Given the description of an element on the screen output the (x, y) to click on. 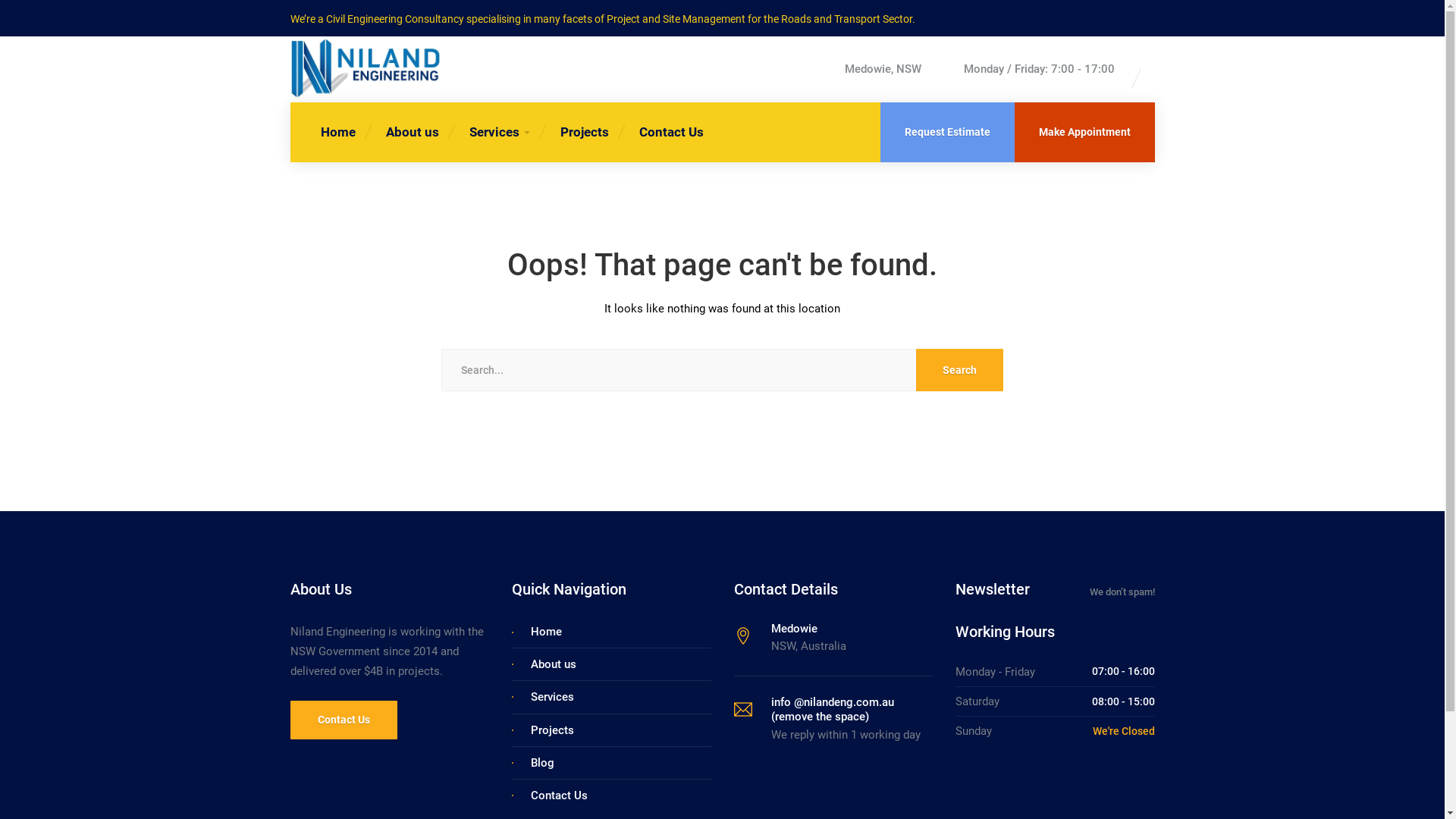
Make Appointment Element type: text (1084, 131)
Home Element type: text (545, 631)
Blog Element type: text (542, 762)
Contact Us Element type: text (670, 131)
Niland Engineering Element type: hover (365, 68)
Contact Us Element type: text (558, 795)
Projects Element type: text (583, 131)
Contact Us Element type: text (342, 720)
Home Element type: text (337, 131)
Search Element type: text (959, 369)
About us Element type: text (411, 131)
About us Element type: text (553, 664)
Services Element type: text (552, 696)
Projects Element type: text (552, 730)
Request Estimate Element type: text (946, 131)
Services Element type: text (498, 131)
